Given the description of an element on the screen output the (x, y) to click on. 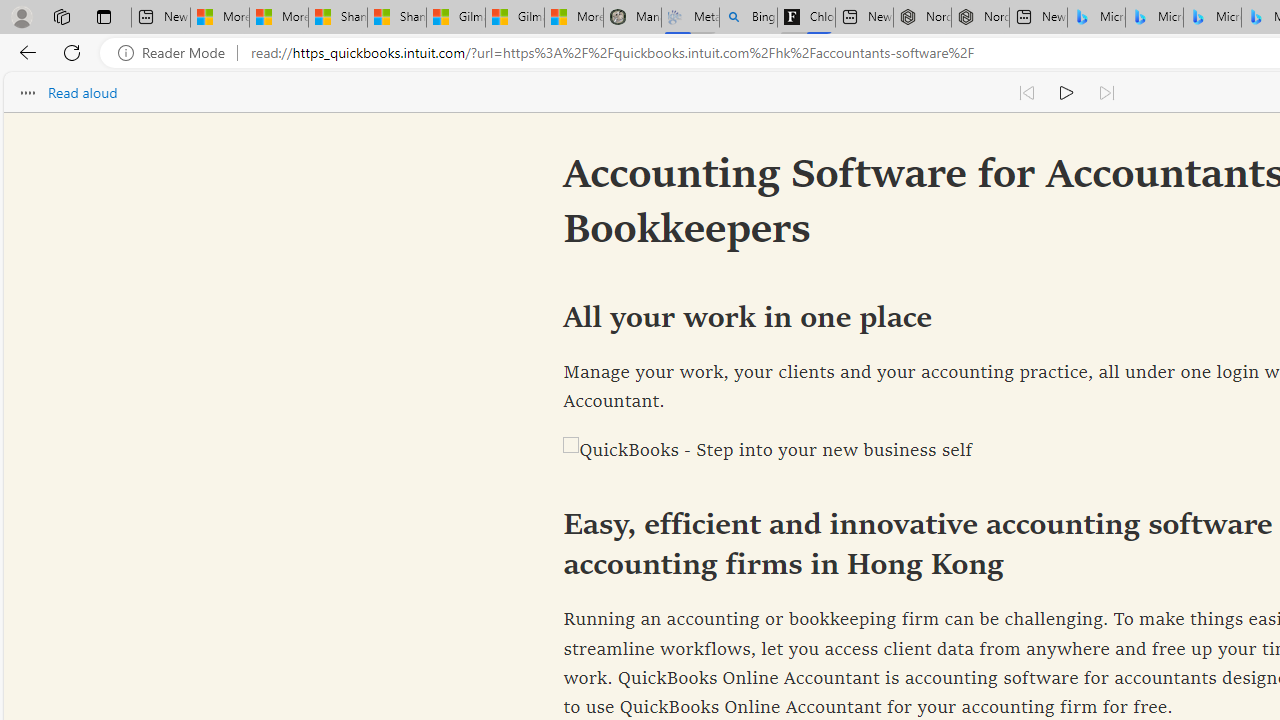
Read previous paragraph (1026, 92)
Microsoft Bing Travel - Stays in Bangkok, Bangkok, Thailand (1154, 17)
Reader Mode (177, 53)
Chloe Sorvino (806, 17)
